Given the description of an element on the screen output the (x, y) to click on. 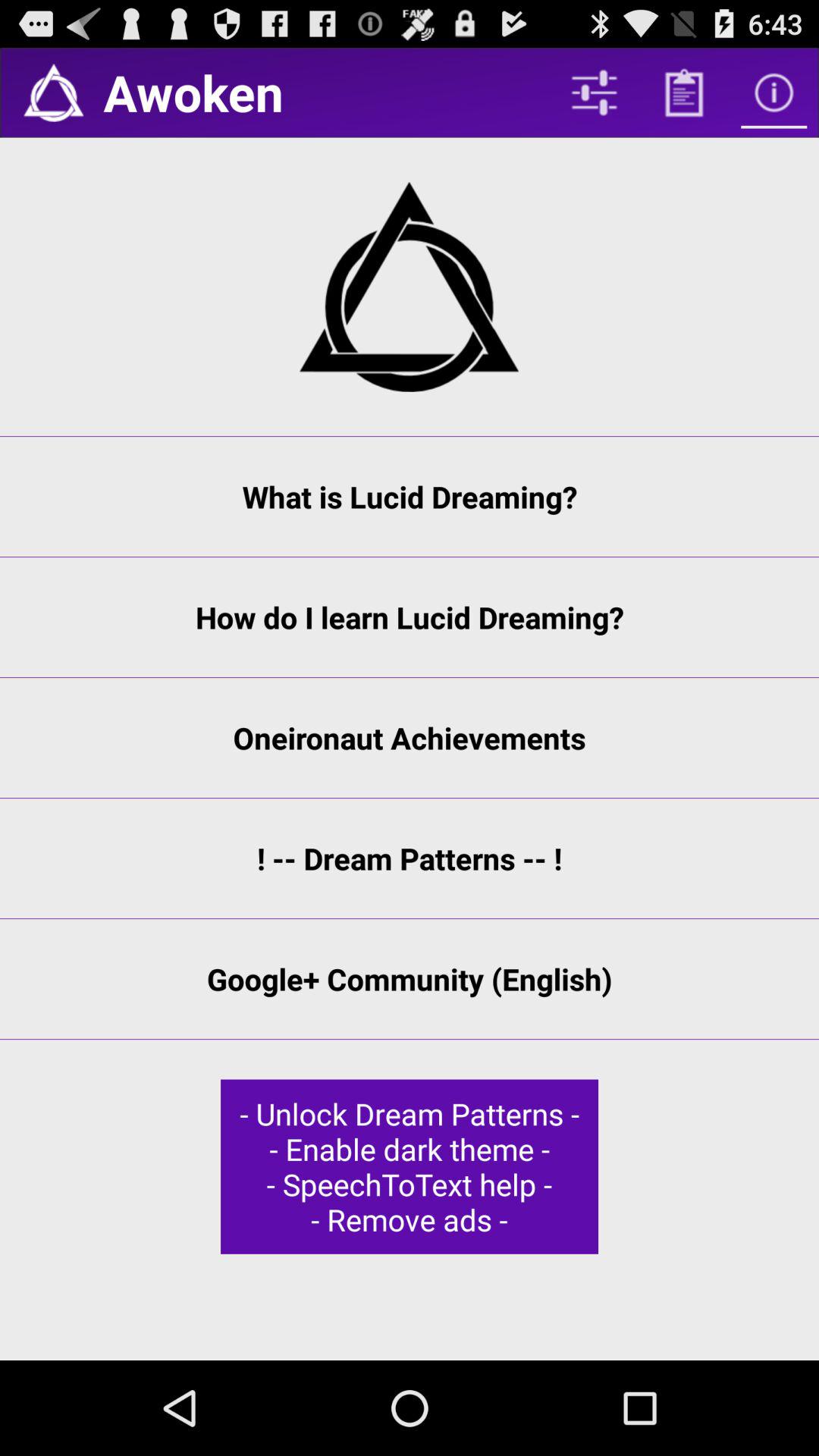
turn off item to the left of the awoken app (53, 92)
